Given the description of an element on the screen output the (x, y) to click on. 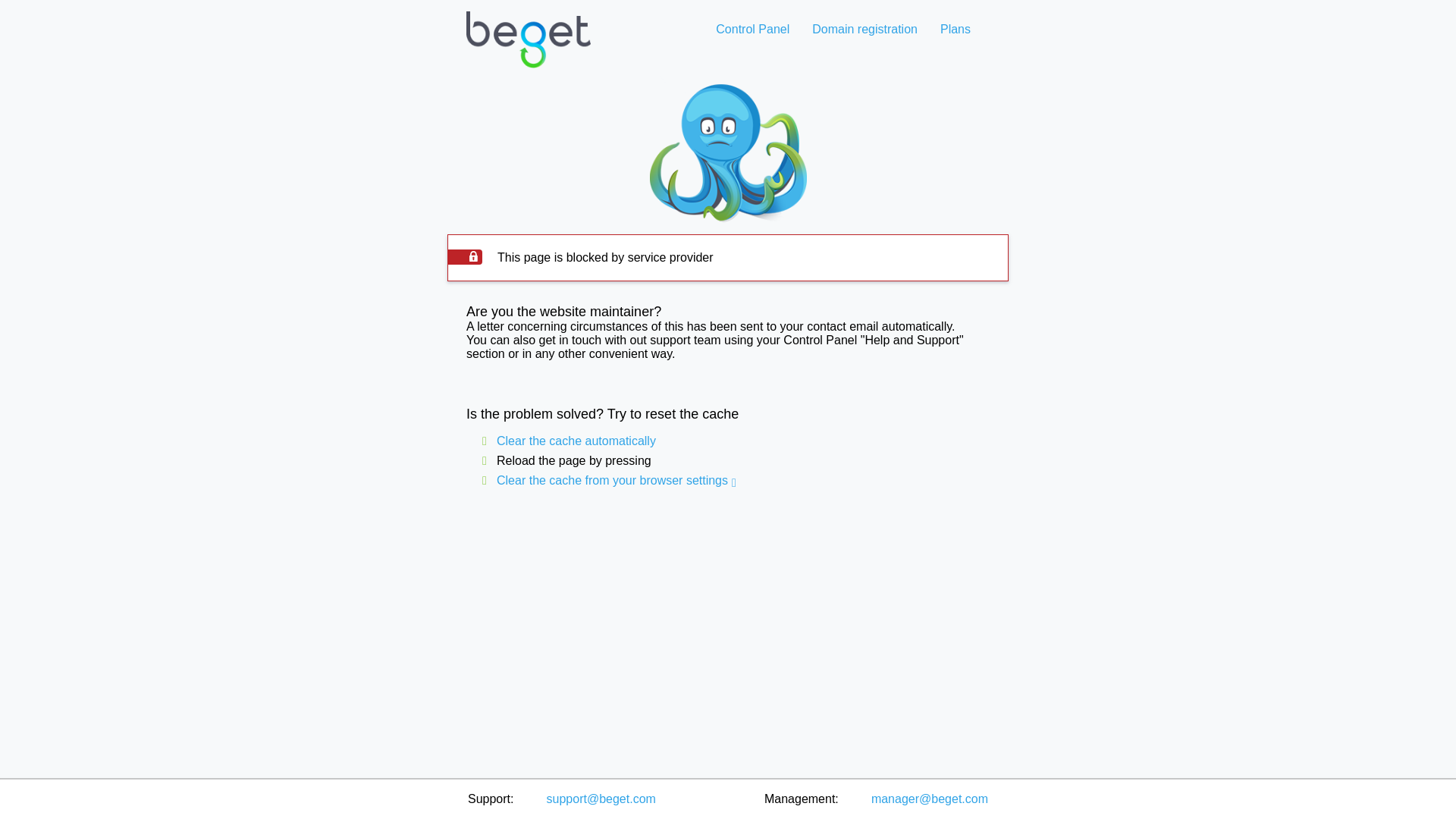
Plans (954, 29)
Clear the cache from your browser settings (612, 480)
Control Panel (752, 29)
Web hosting home page (528, 51)
Clear the cache automatically (576, 440)
Domain registration (864, 29)
